Given the description of an element on the screen output the (x, y) to click on. 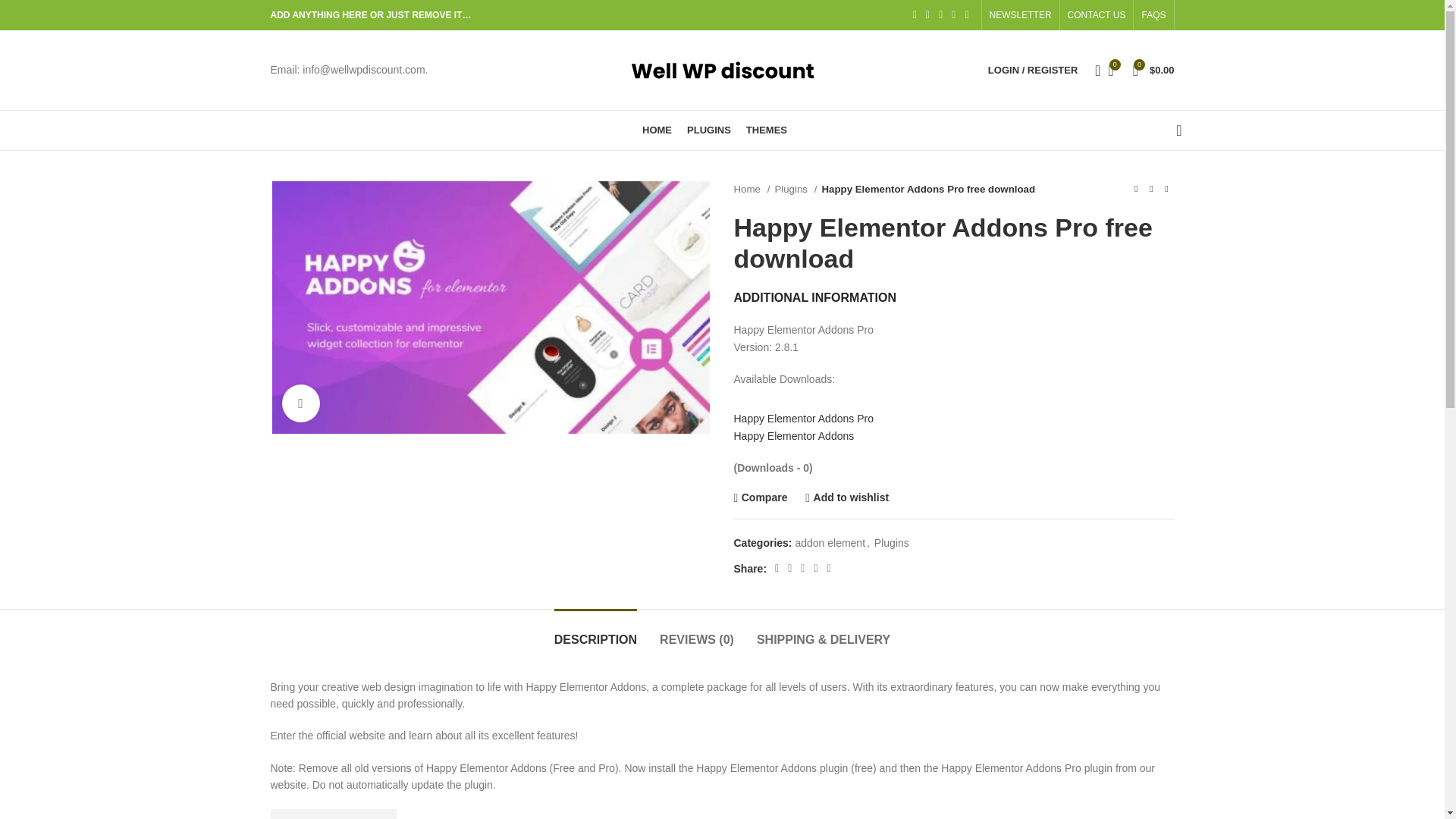
Home (751, 188)
My account (1031, 69)
happy-elementor-450x260 (489, 307)
THEMES (766, 130)
Plugins (795, 188)
CONTACT US (1096, 15)
NEWSLETTER (1020, 15)
HOME (656, 130)
Happy Elementor Addons (793, 435)
Shopping cart (1153, 69)
PLUGINS (708, 130)
Happy Elementor Addons Pro (803, 418)
